Given the description of an element on the screen output the (x, y) to click on. 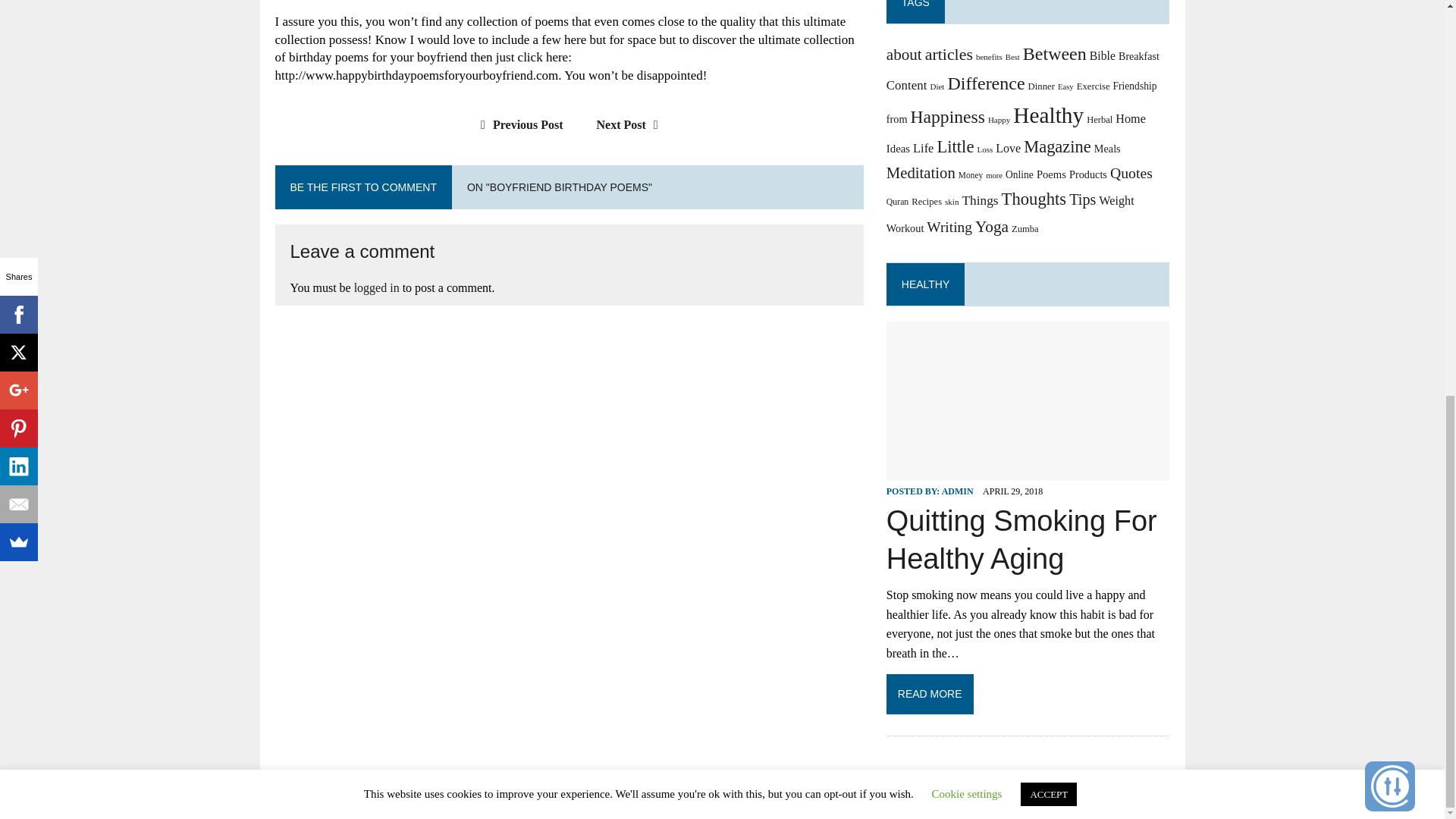
articles (948, 54)
Difference (986, 83)
Bible (1102, 55)
Breakfast (1138, 55)
benefits (989, 56)
Quitting Smoking For Healthy Aging (1021, 539)
Quitting Smoking For Healthy Aging (1028, 470)
Diet (936, 85)
logged in (375, 287)
Best (1013, 57)
Previous Post (517, 124)
Content (906, 84)
Between (1054, 53)
Next Post (630, 124)
about (903, 54)
